Given the description of an element on the screen output the (x, y) to click on. 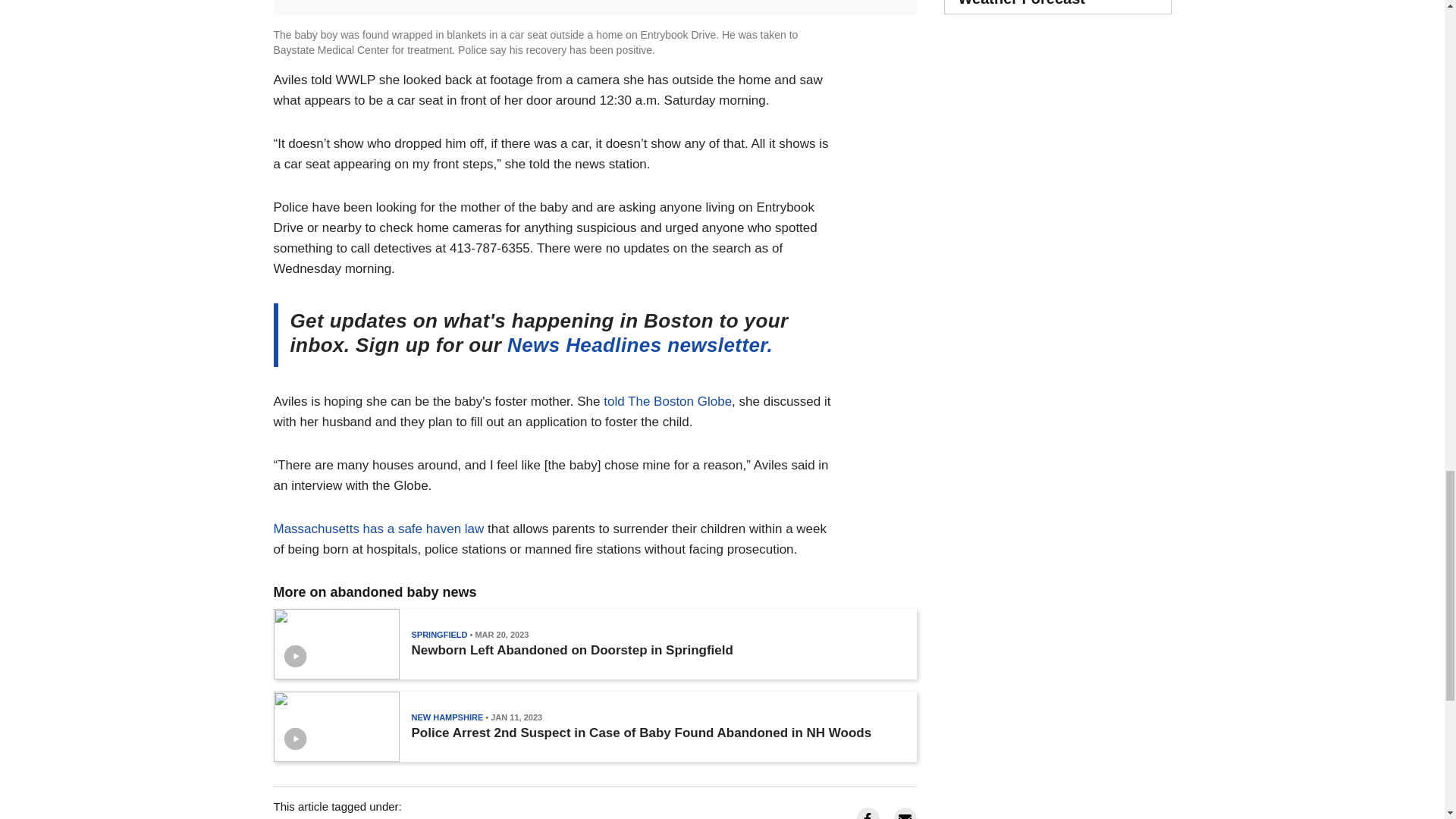
told The Boston Globe (668, 400)
SPRINGFIELD (438, 634)
Massachusetts has a safe haven law (378, 528)
News Headlines newsletter. (639, 344)
Newborn Left Abandoned on Doorstep in Springfield (571, 650)
NEW HAMPSHIRE (446, 716)
